Given the description of an element on the screen output the (x, y) to click on. 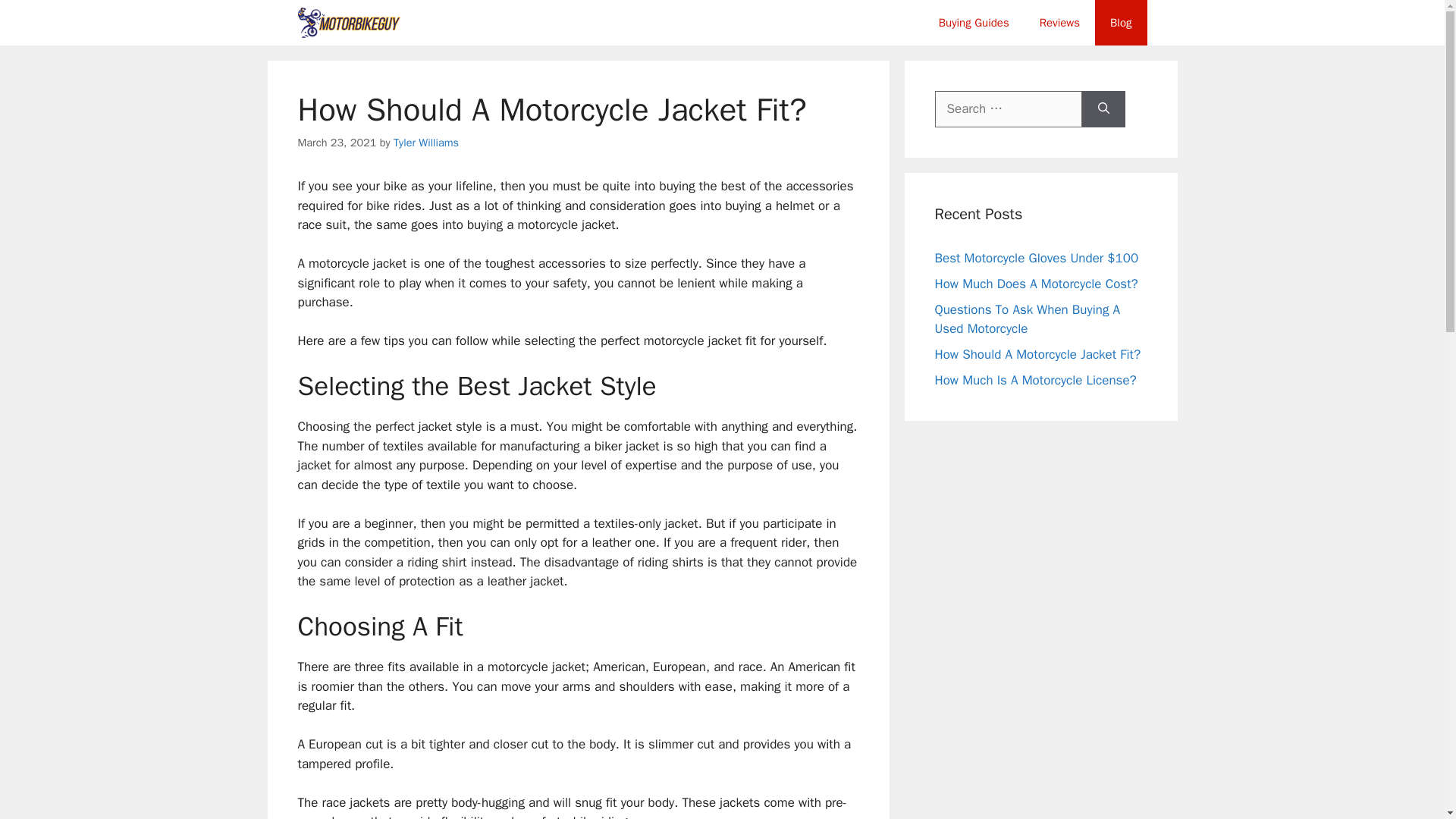
How Should A Motorcycle Jacket Fit? (1037, 354)
Reviews (1059, 22)
How Much Does A Motorcycle Cost? (1035, 283)
View all posts by Tyler Williams (425, 142)
Tyler Williams (425, 142)
How Much Is A Motorcycle License? (1034, 380)
Buying Guides (974, 22)
Blog (1120, 22)
Search for: (1007, 108)
Questions To Ask When Buying A Used Motorcycle (1026, 319)
